Given the description of an element on the screen output the (x, y) to click on. 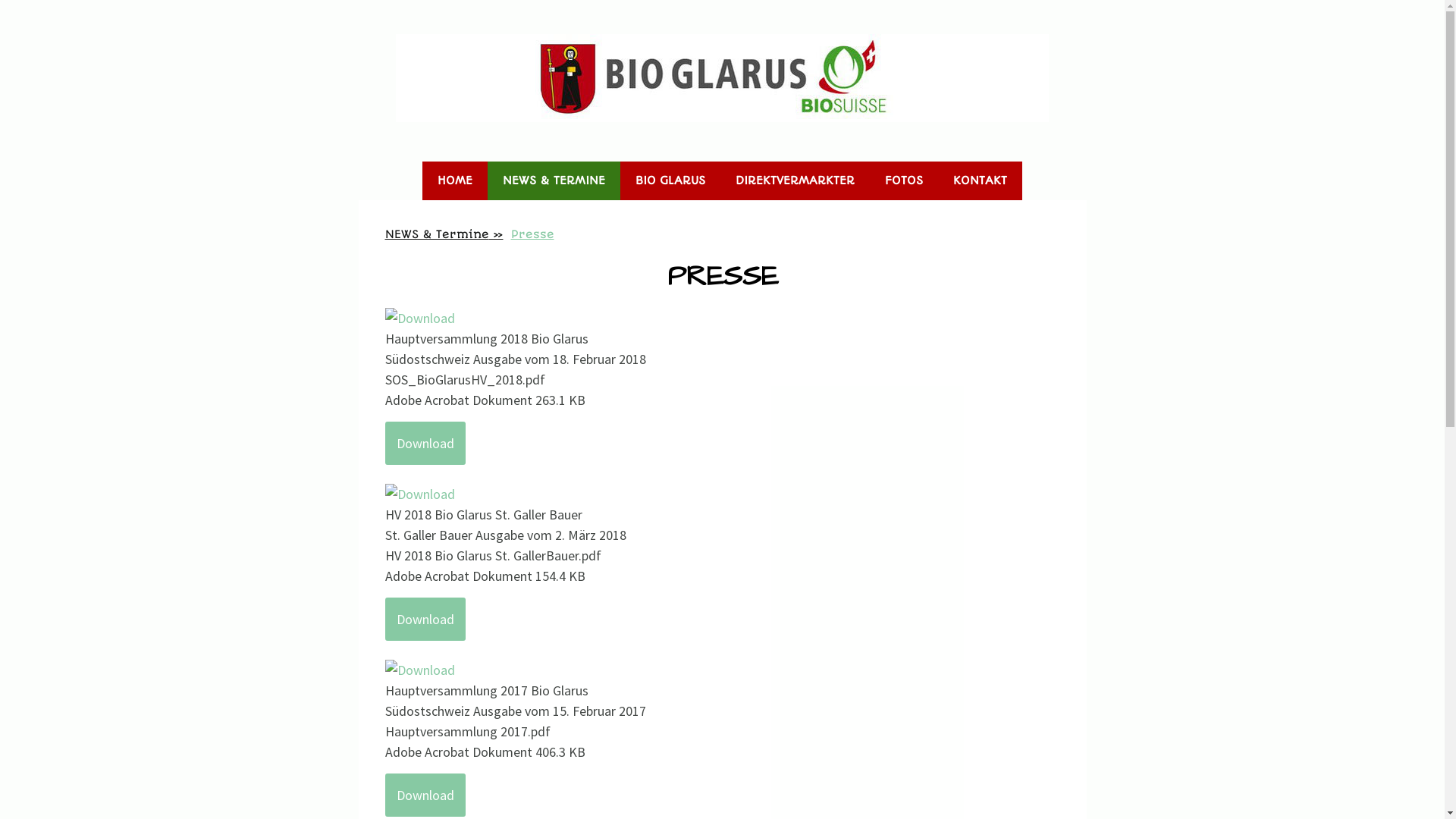
Download Element type: text (425, 794)
HOME Element type: text (454, 180)
KONTAKT Element type: text (980, 180)
NEWS & TERMINE Element type: text (553, 180)
FOTOS Element type: text (903, 180)
NEWS & Termine Element type: text (443, 233)
BIO GLARUS Element type: text (670, 180)
DIREKTVERMARKTER Element type: text (794, 180)
Download Element type: text (425, 618)
Presse Element type: text (531, 233)
Download Element type: text (425, 442)
